Given the description of an element on the screen output the (x, y) to click on. 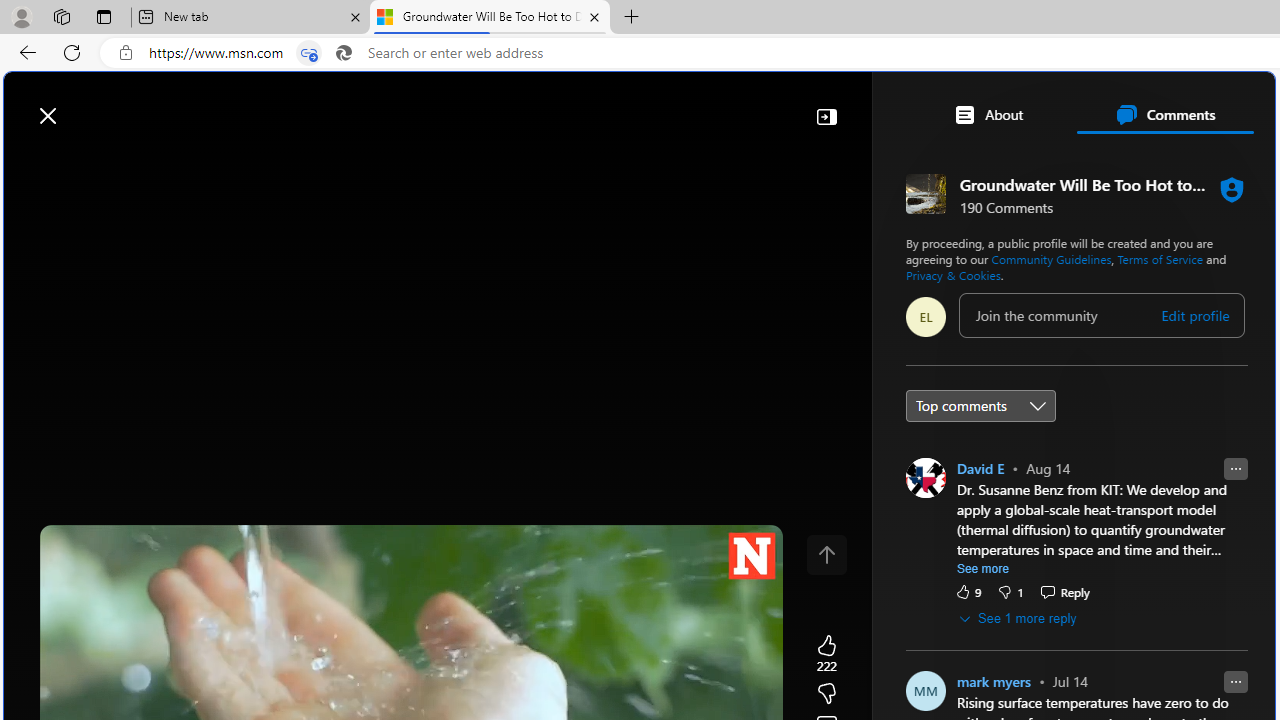
Community Guidelines (1051, 258)
About (987, 114)
Search icon (343, 53)
Terms of Service (1160, 258)
Notifications (1190, 105)
